Given the description of an element on the screen output the (x, y) to click on. 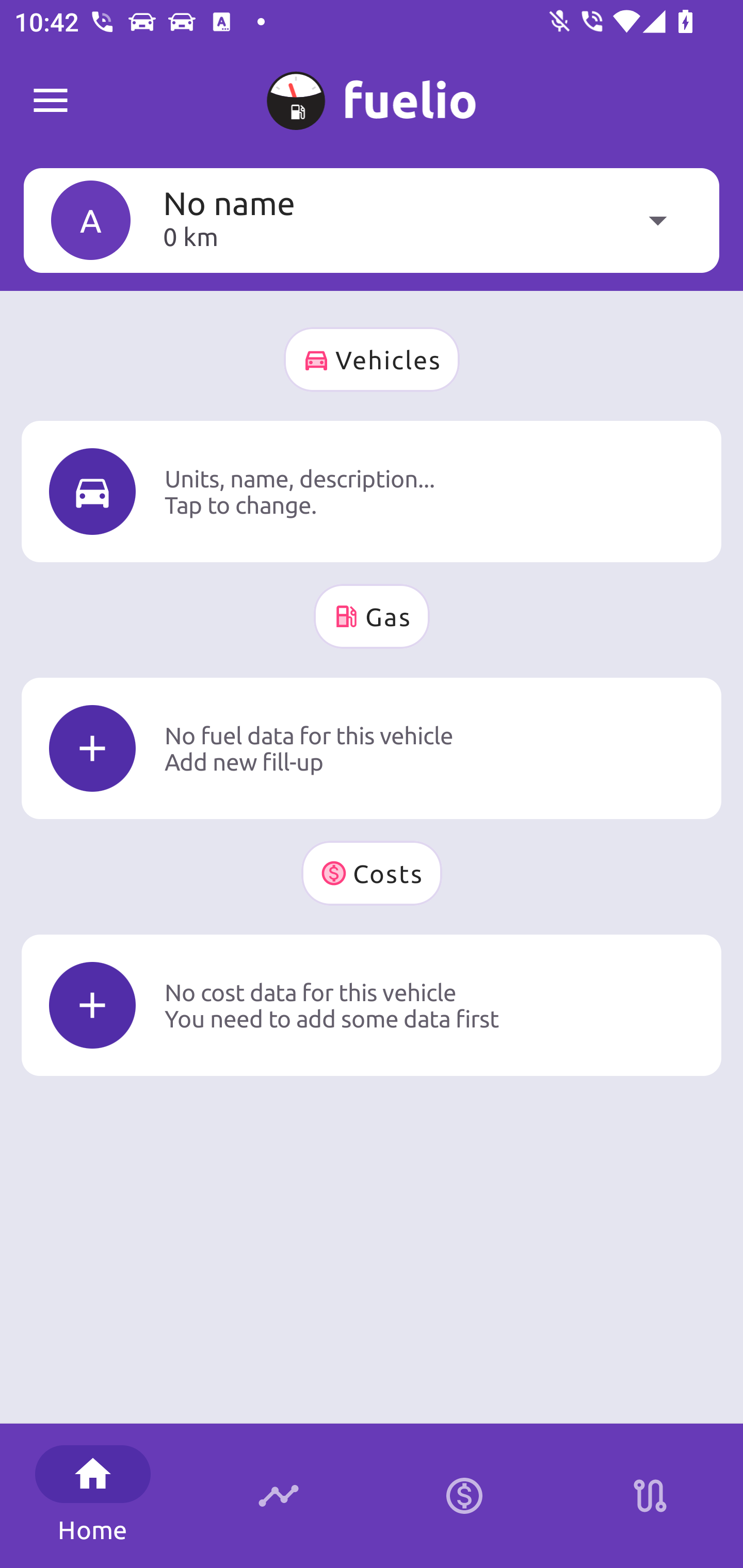
Fuelio (50, 101)
A No name 0 km (371, 219)
Vehicles (371, 359)
Icon Units, name, description...
Tap to change. (371, 491)
Icon (92, 491)
Gas (371, 616)
Icon No fuel data for this vehicle
Add new fill-up (371, 747)
Icon (92, 748)
Costs (371, 873)
Icon (92, 1004)
Timeline (278, 1495)
Calculator (464, 1495)
Stations on route (650, 1495)
